Given the description of an element on the screen output the (x, y) to click on. 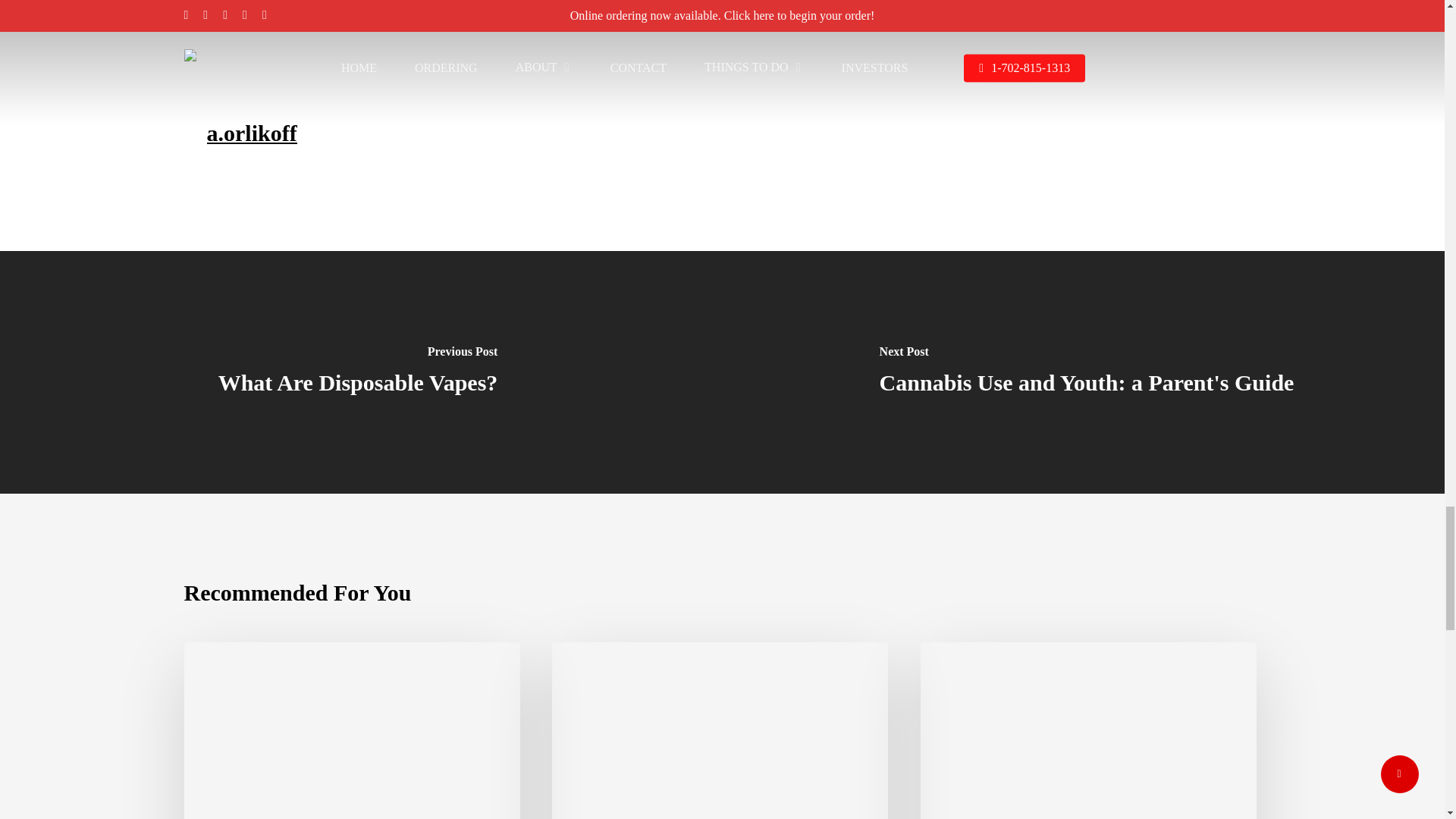
a.orlikoff (251, 132)
